Given the description of an element on the screen output the (x, y) to click on. 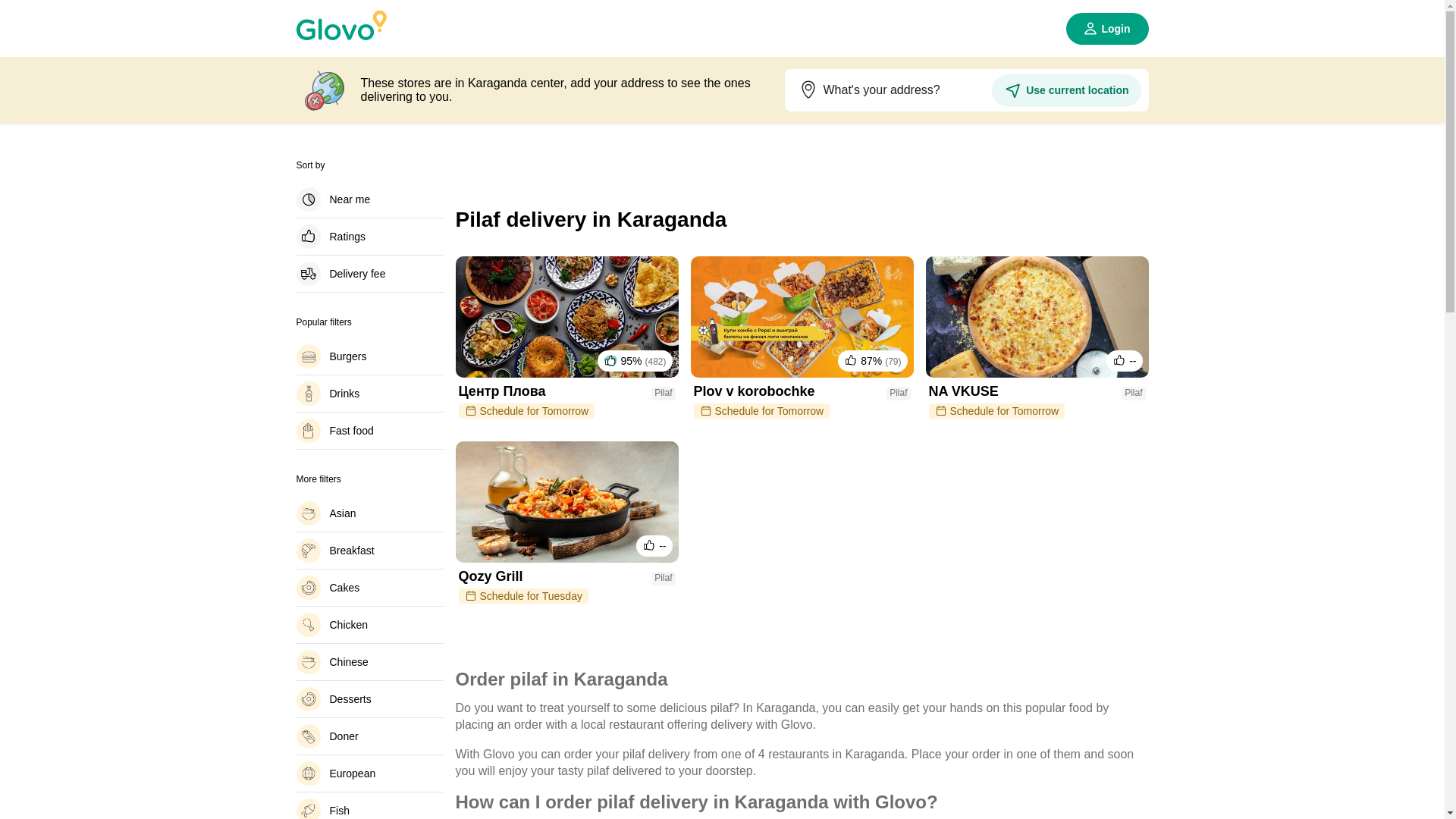
Fish (368, 808)
Cakes (368, 587)
Near me (368, 199)
Chicken (368, 624)
Doner (368, 735)
Drinks (368, 393)
European (368, 773)
Delivery fee (368, 273)
Ratings (368, 236)
Chinese (368, 662)
Burgers (368, 355)
Fast food (368, 430)
Asian (368, 513)
Login (1106, 29)
Desserts (368, 699)
